Given the description of an element on the screen output the (x, y) to click on. 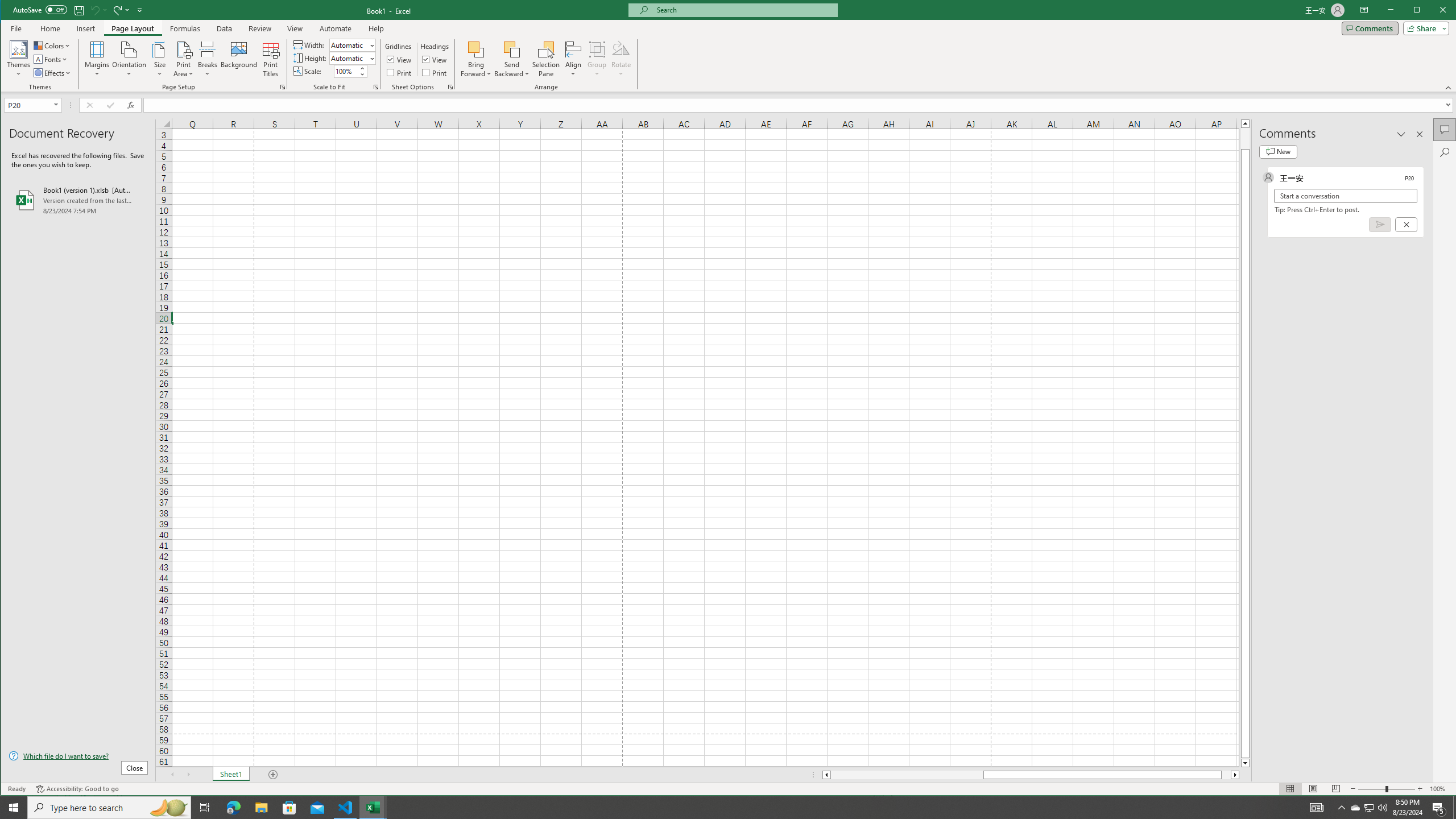
Notification Chevron (1341, 807)
Search (1444, 151)
Excel - 2 running windows (373, 807)
Group (596, 59)
Action Center, 5 new notifications (1439, 807)
Rotate (620, 59)
Page Setup (375, 86)
